Given the description of an element on the screen output the (x, y) to click on. 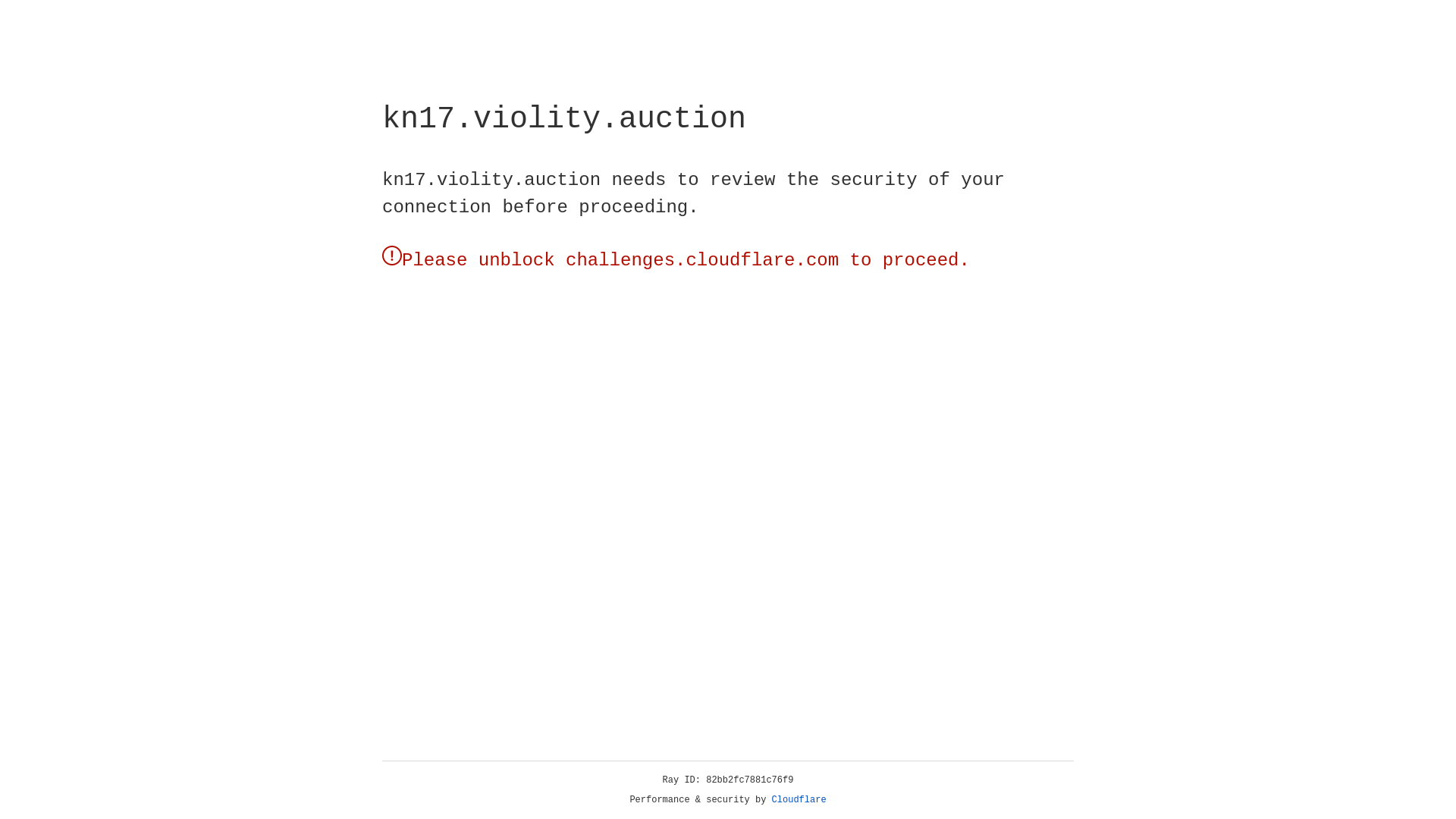
Cloudflare Element type: text (165, 107)
